Given the description of an element on the screen output the (x, y) to click on. 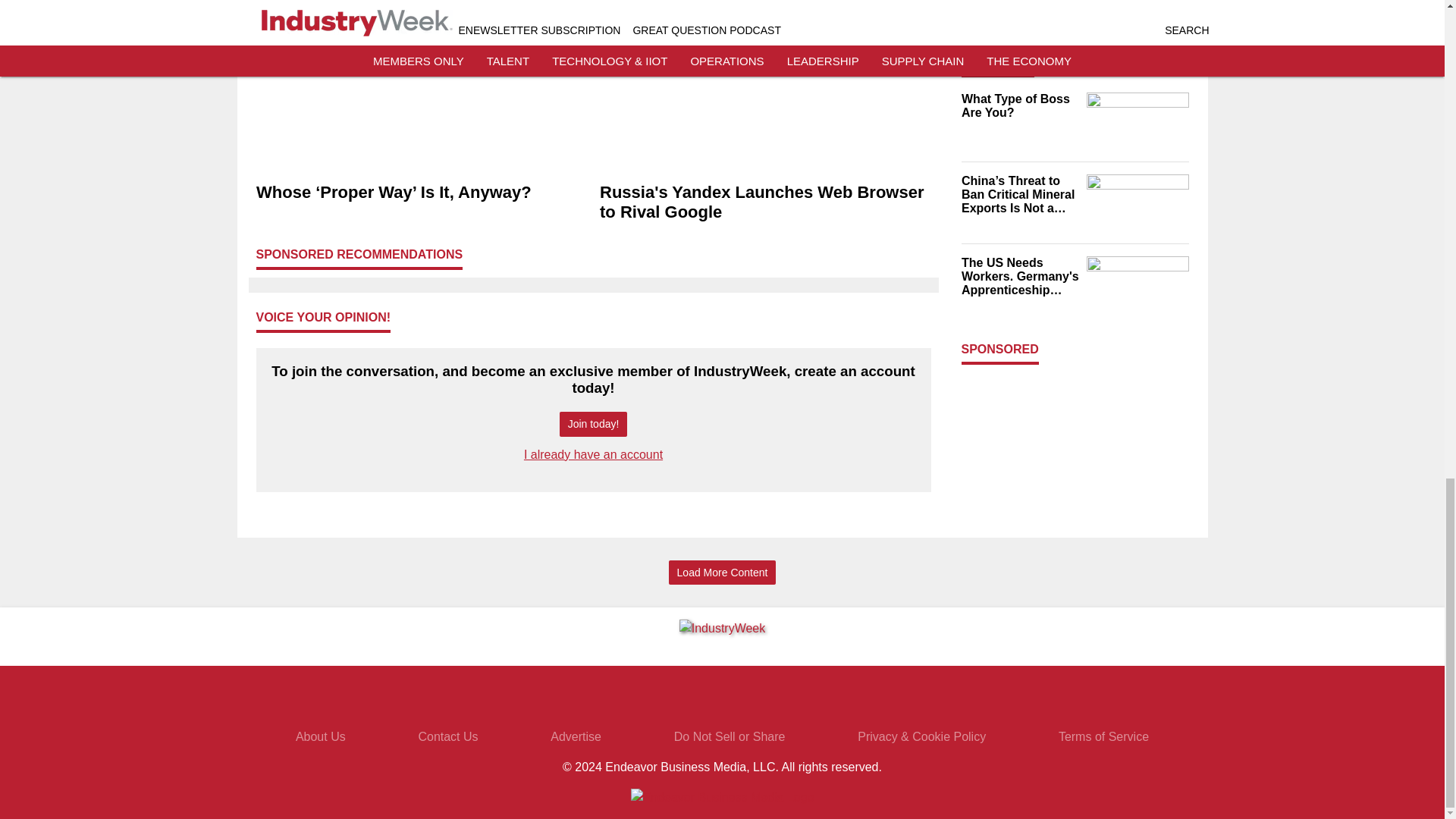
Russia's Yandex Launches Web Browser to Rival Google (764, 201)
2024 IW 50 Results Download (1019, 5)
Join today! (593, 423)
I already have an account (593, 454)
